Given the description of an element on the screen output the (x, y) to click on. 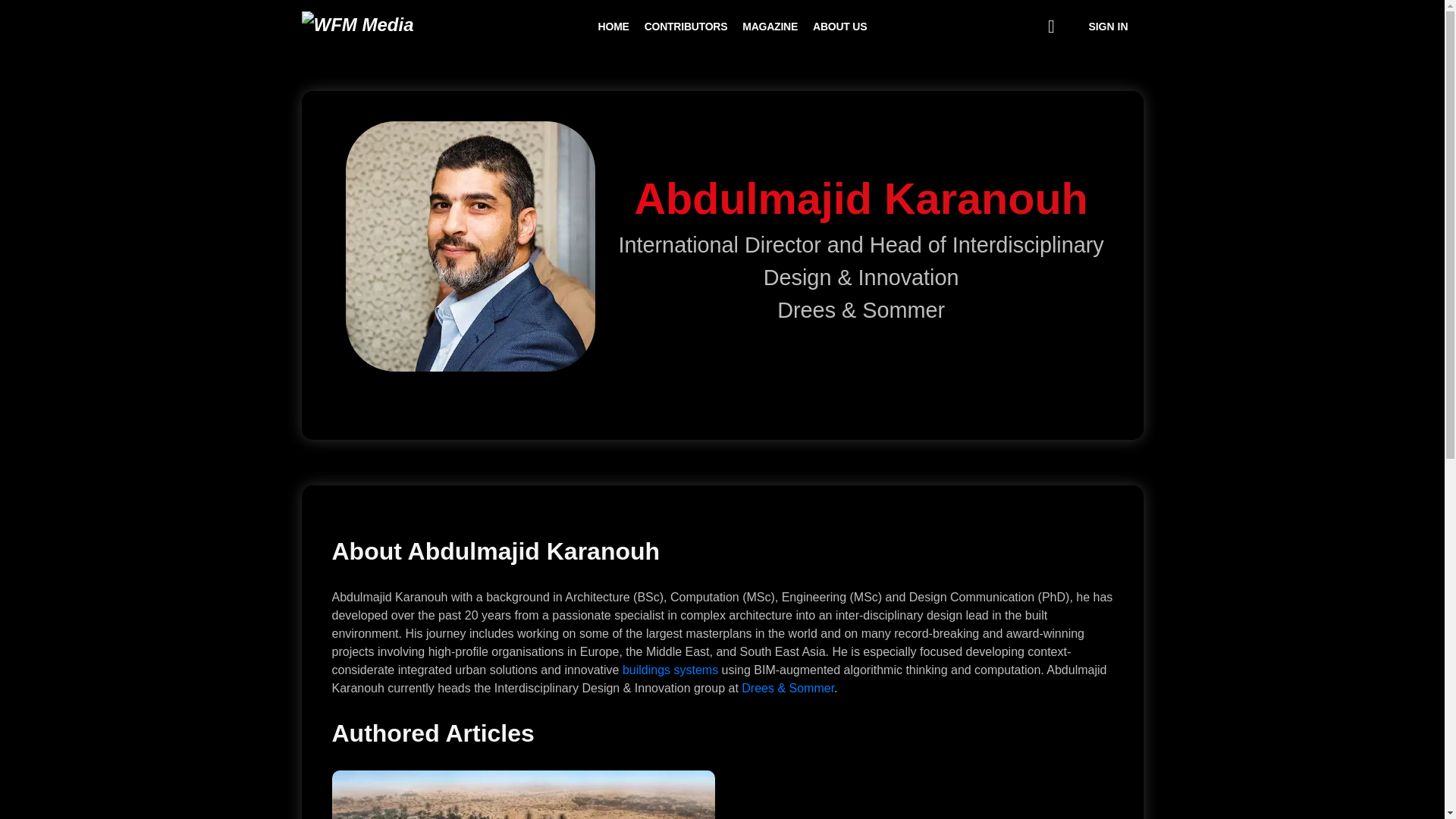
SIGN IN (1107, 26)
MAGAZINE (769, 26)
ABOUT US (839, 26)
buildings systems (670, 669)
CONTRIBUTORS (686, 26)
